Given the description of an element on the screen output the (x, y) to click on. 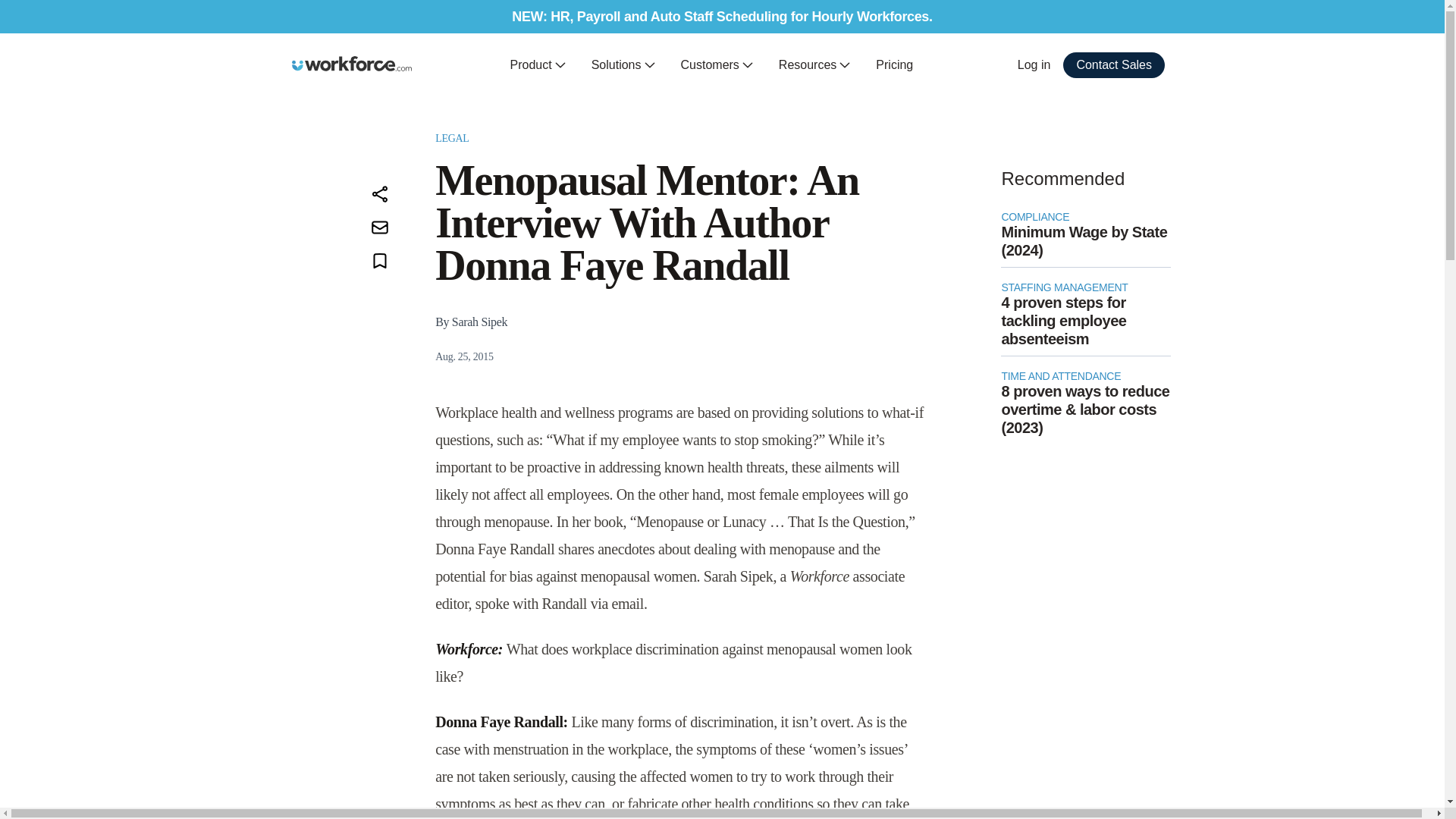
Product (539, 65)
Solutions (623, 65)
Workforce.com (351, 63)
